Given the description of an element on the screen output the (x, y) to click on. 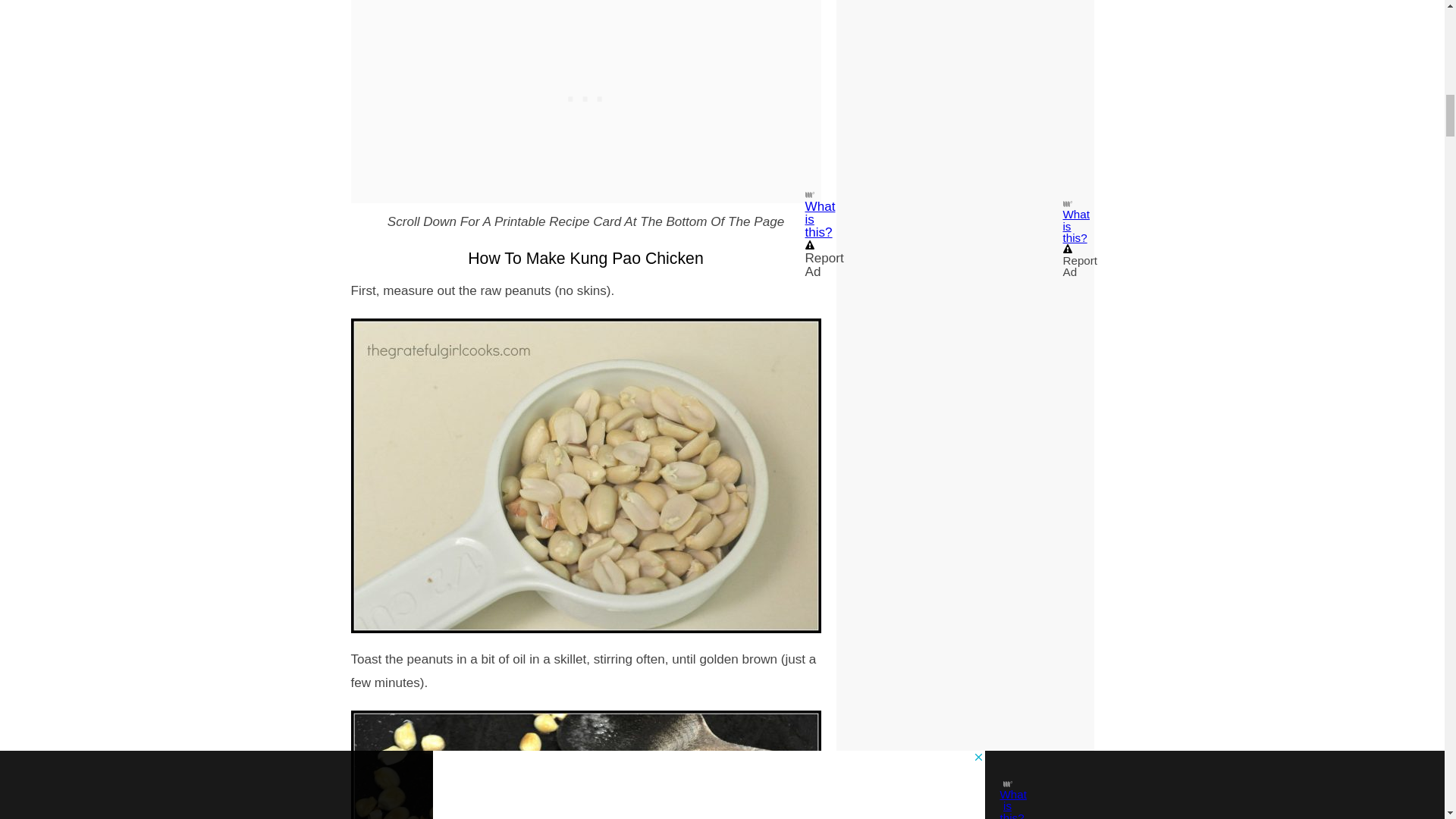
3rd party ad content (584, 29)
